Given the description of an element on the screen output the (x, y) to click on. 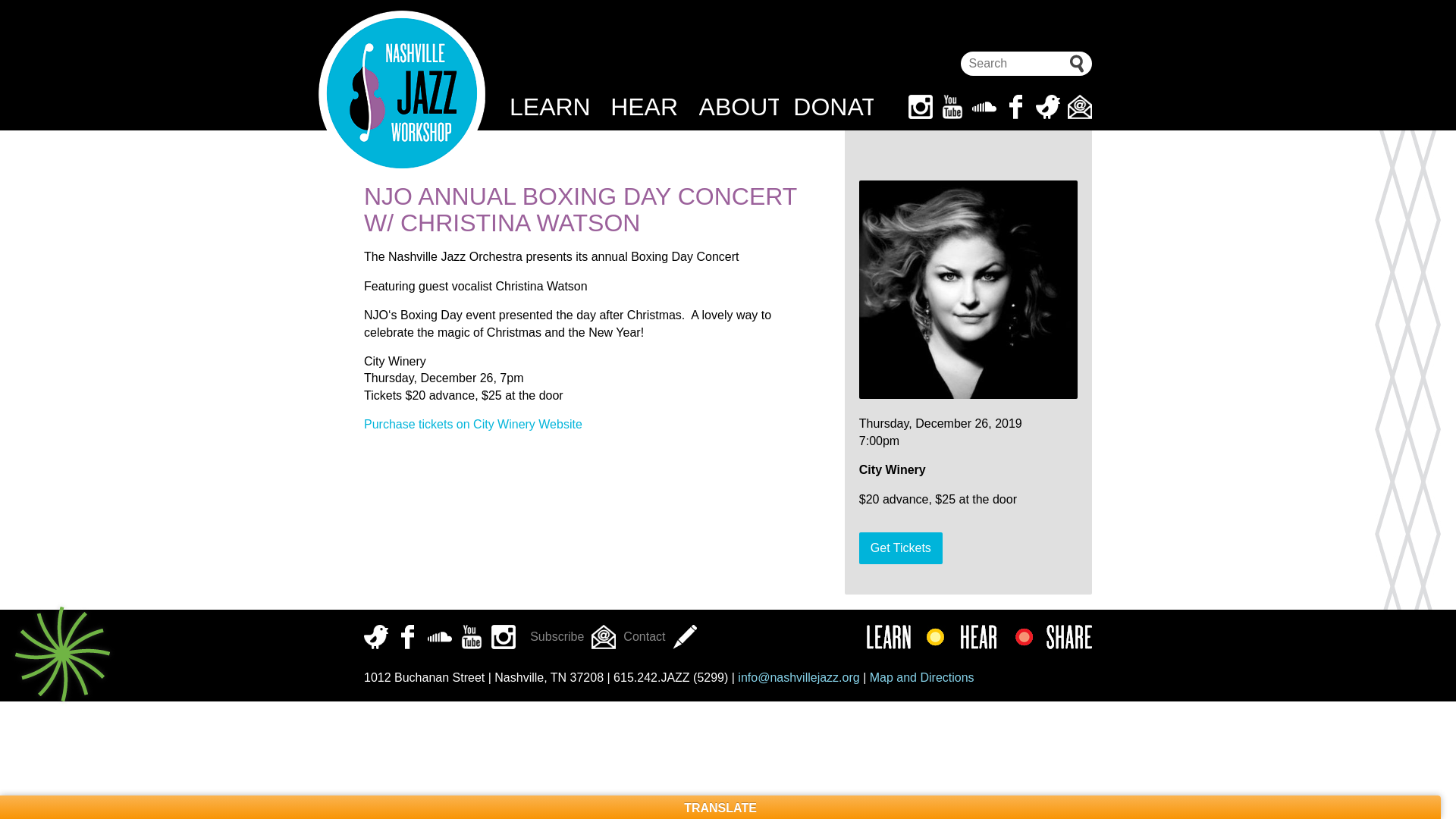
Youtube (471, 636)
Facebook (1015, 106)
Twitter (1047, 106)
ABOUT (738, 106)
Soundcloud (439, 636)
Instagram (920, 106)
LEARN (549, 106)
Get Tickets (900, 548)
Twitter (376, 636)
Instagram (503, 636)
